Given the description of an element on the screen output the (x, y) to click on. 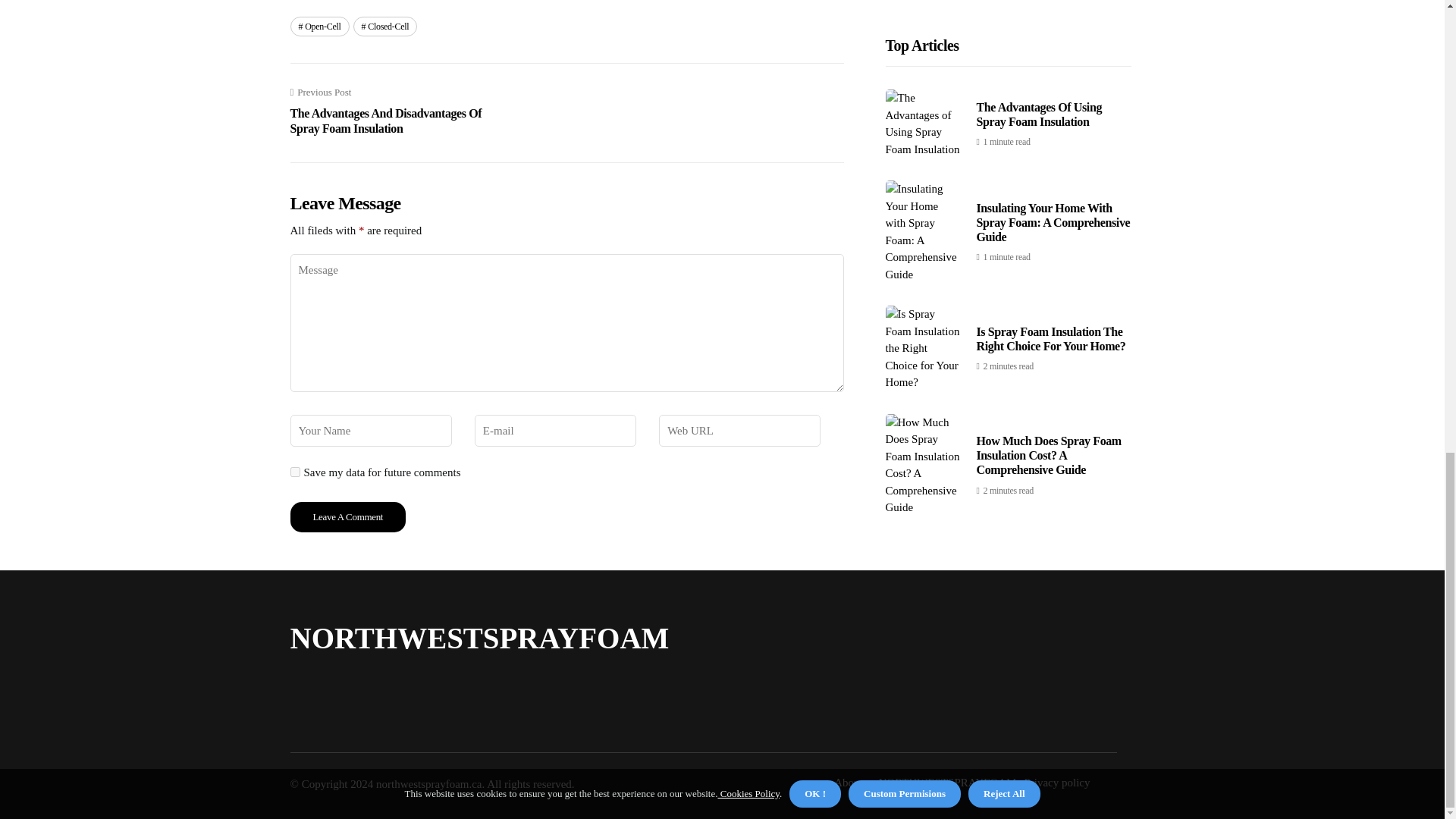
Closed-Cell (385, 26)
Leave a Comment (347, 517)
yes (294, 471)
Leave a Comment (347, 517)
Open-Cell (319, 26)
